Given the description of an element on the screen output the (x, y) to click on. 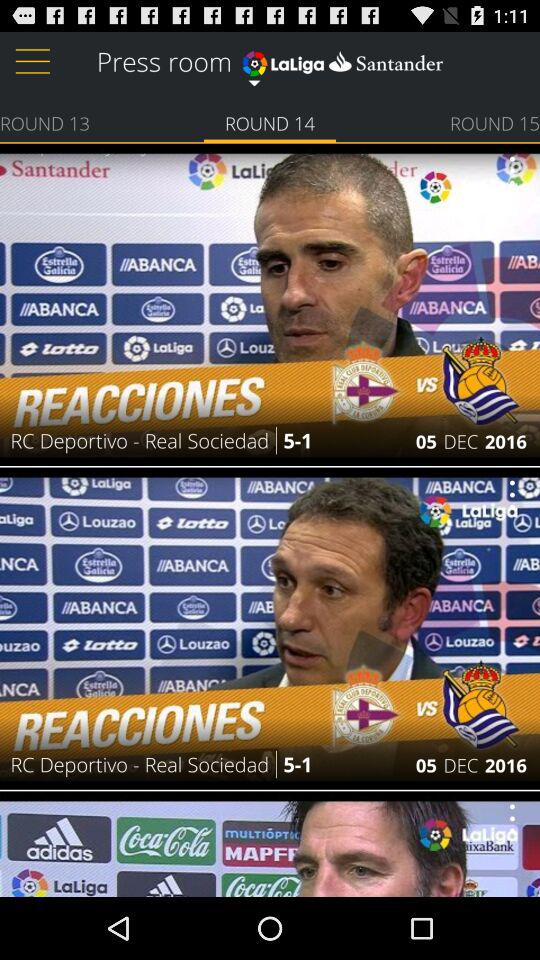
swipe to round 15 icon (494, 122)
